Given the description of an element on the screen output the (x, y) to click on. 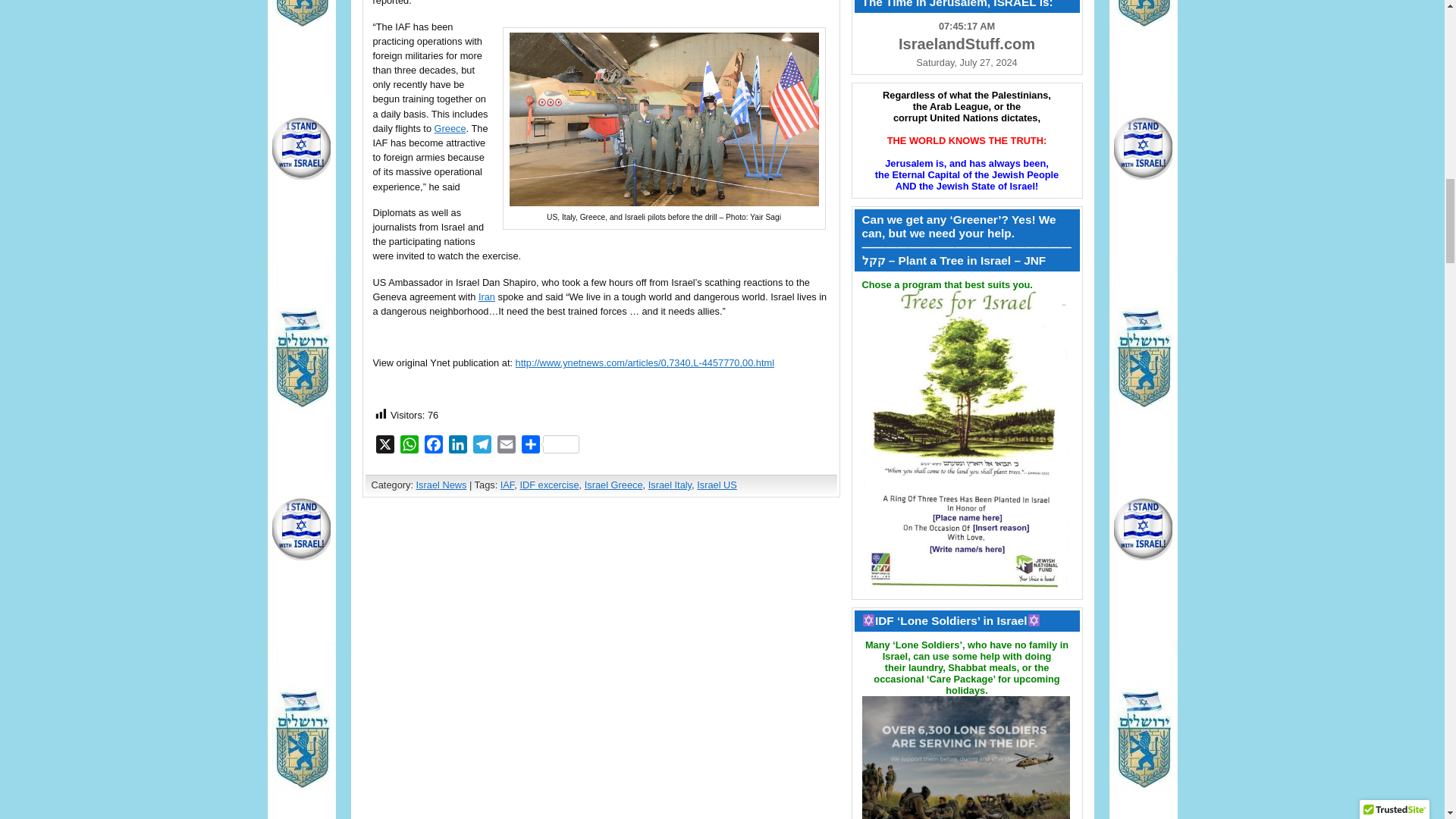
WhatsApp (409, 446)
X (384, 446)
Facebook (433, 446)
